Given the description of an element on the screen output the (x, y) to click on. 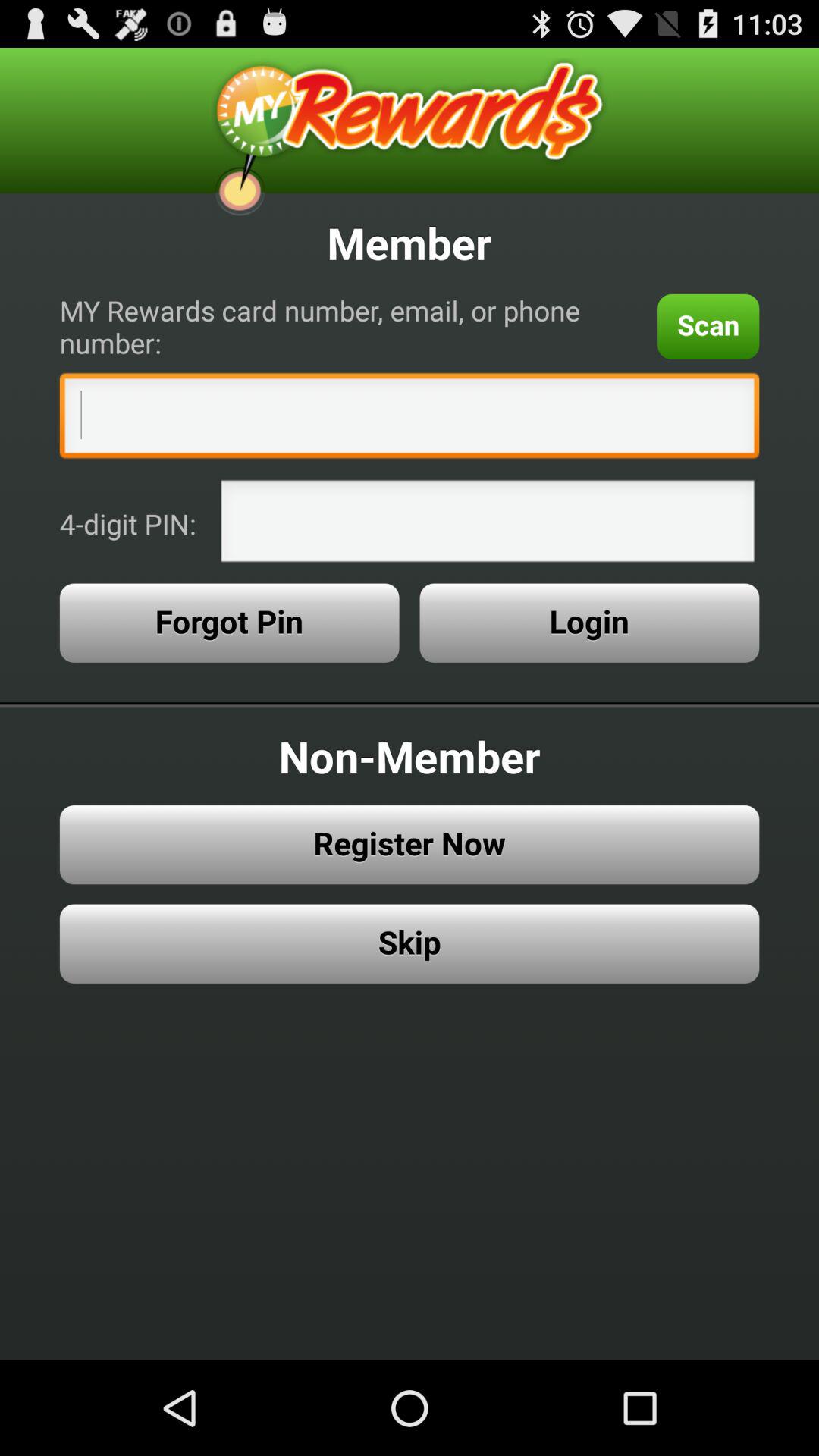
flip to login item (589, 622)
